Given the description of an element on the screen output the (x, y) to click on. 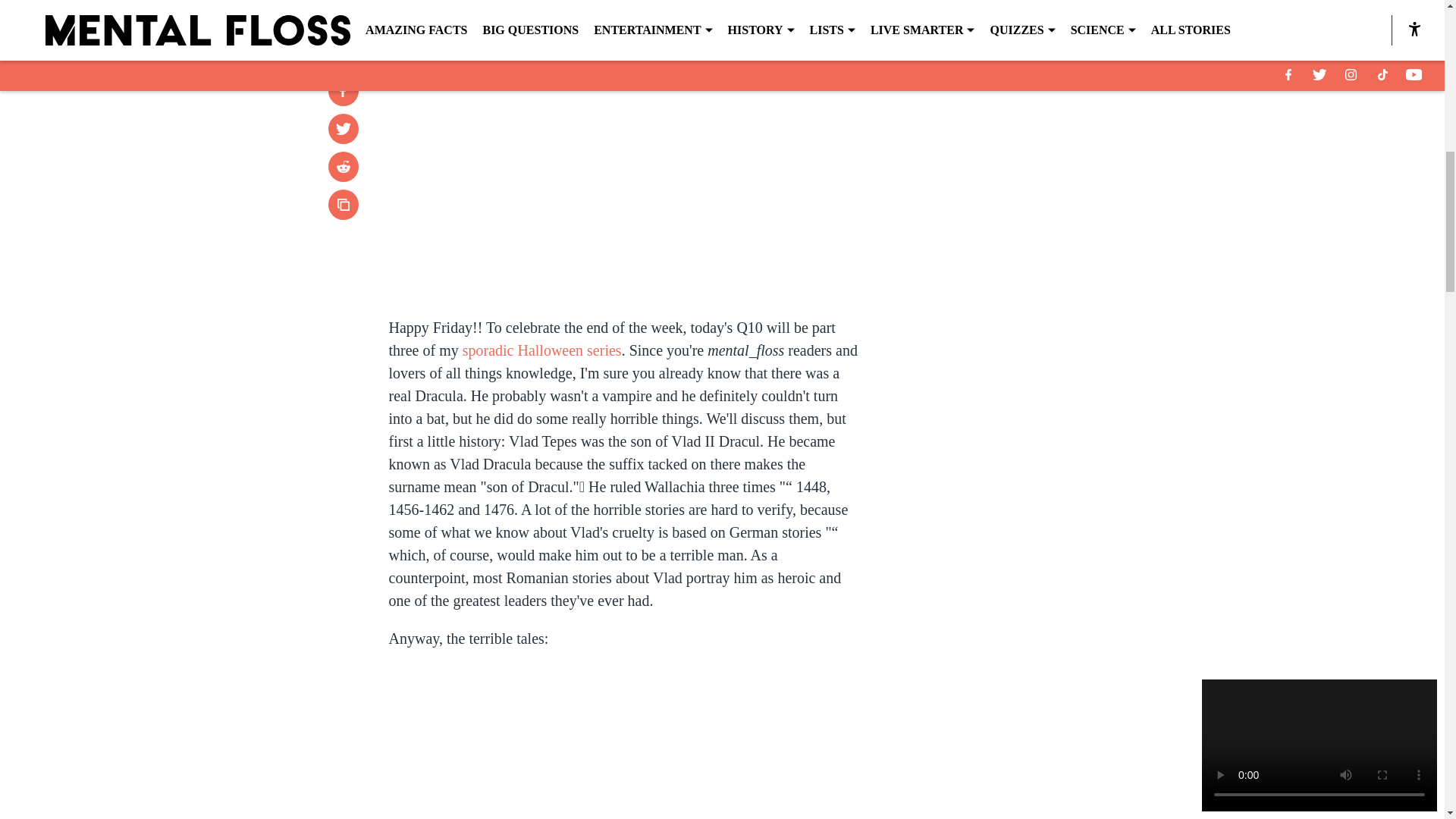
3rd party ad content (1047, 131)
3rd party ad content (1047, 350)
